Given the description of an element on the screen output the (x, y) to click on. 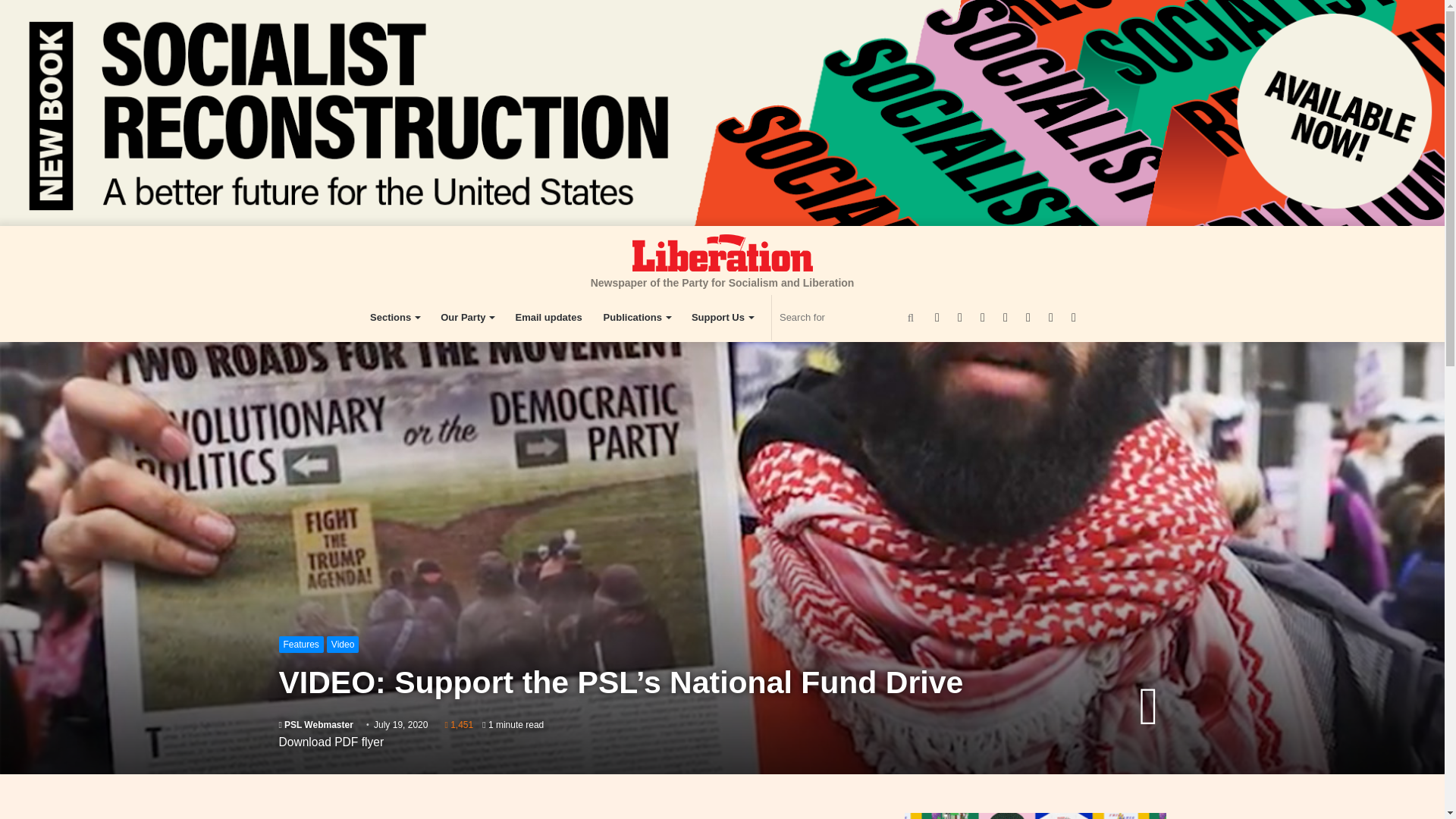
Support Us (721, 317)
Search for (848, 317)
Our Party (466, 317)
Download PDF flyer (331, 741)
Liberation News (721, 252)
Publications (636, 317)
PSL Webmaster (316, 724)
Email updates (547, 317)
Video (342, 644)
PSL Webmaster (316, 724)
Sections (394, 317)
Features (301, 644)
